Given the description of an element on the screen output the (x, y) to click on. 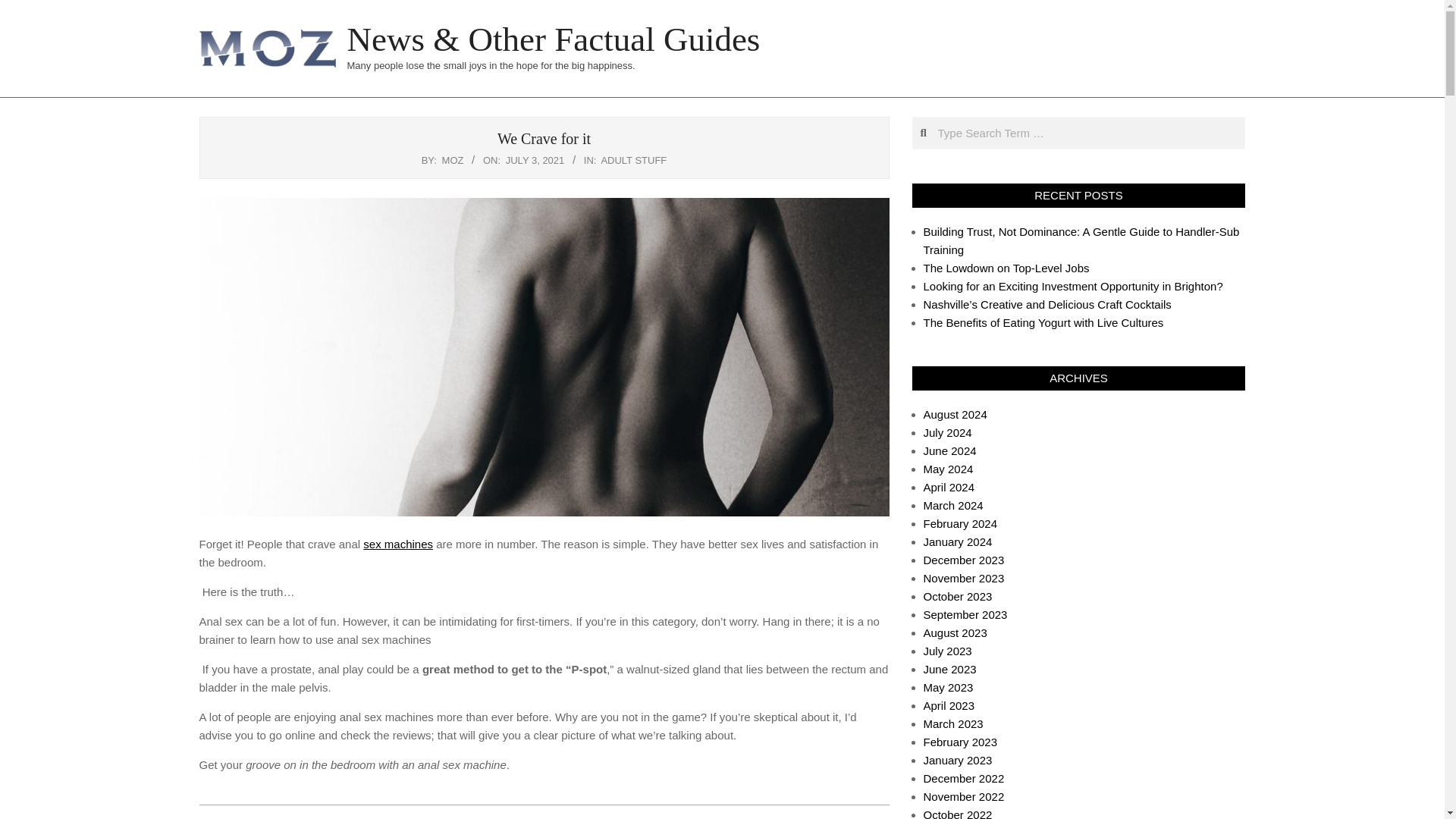
November 2023 (963, 577)
June 2024 (949, 450)
March 2023 (953, 723)
The Benefits of Eating Yogurt with Live Cultures (1043, 322)
July 2023 (947, 650)
July 2024 (947, 431)
ADULT STUFF (632, 160)
August 2024 (955, 413)
October 2023 (957, 595)
June 2023 (949, 668)
